Given the description of an element on the screen output the (x, y) to click on. 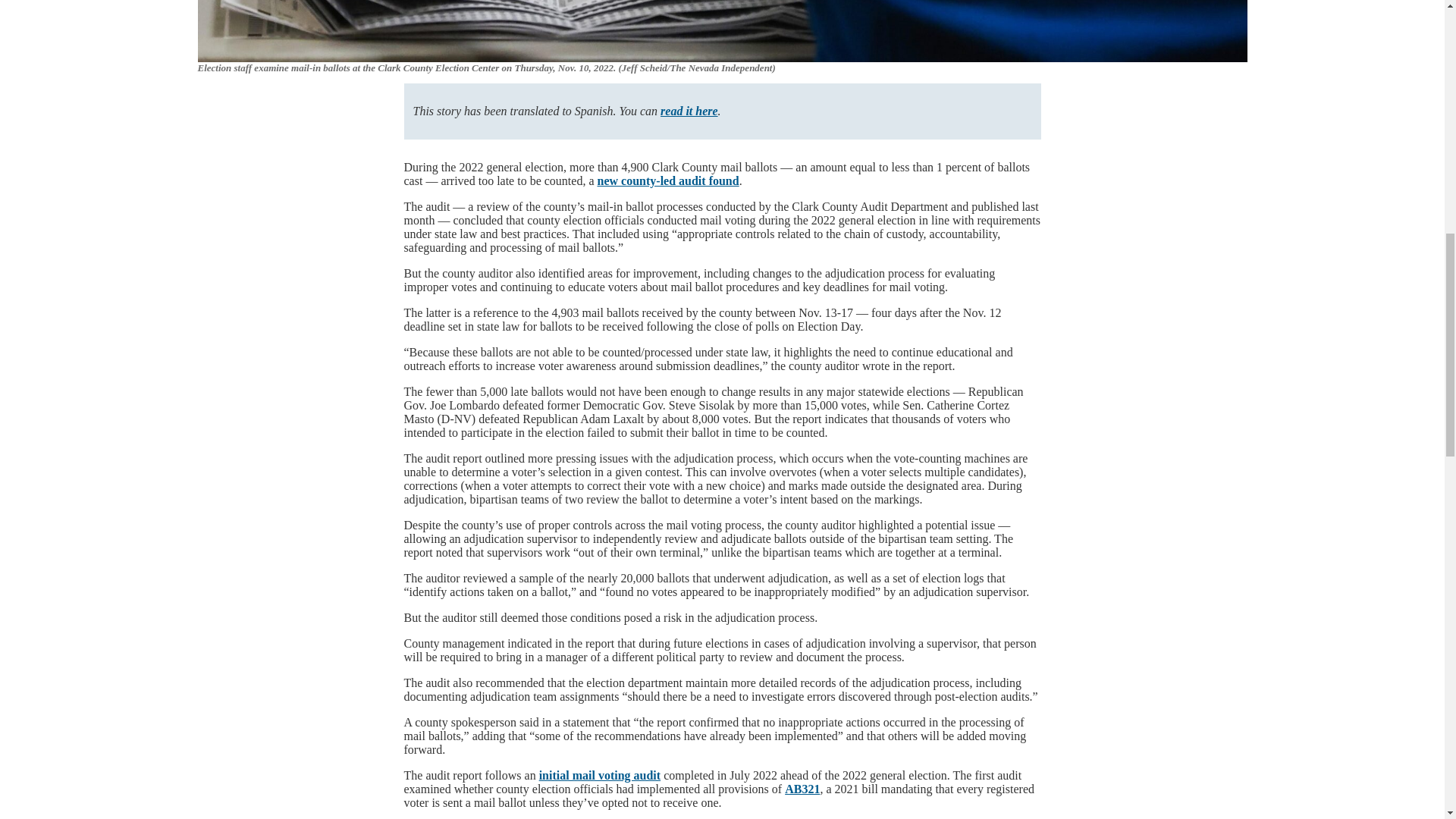
initial mail voting audit (599, 775)
read it here (689, 110)
new county-led audit found (667, 180)
AB321 (801, 788)
